Given the description of an element on the screen output the (x, y) to click on. 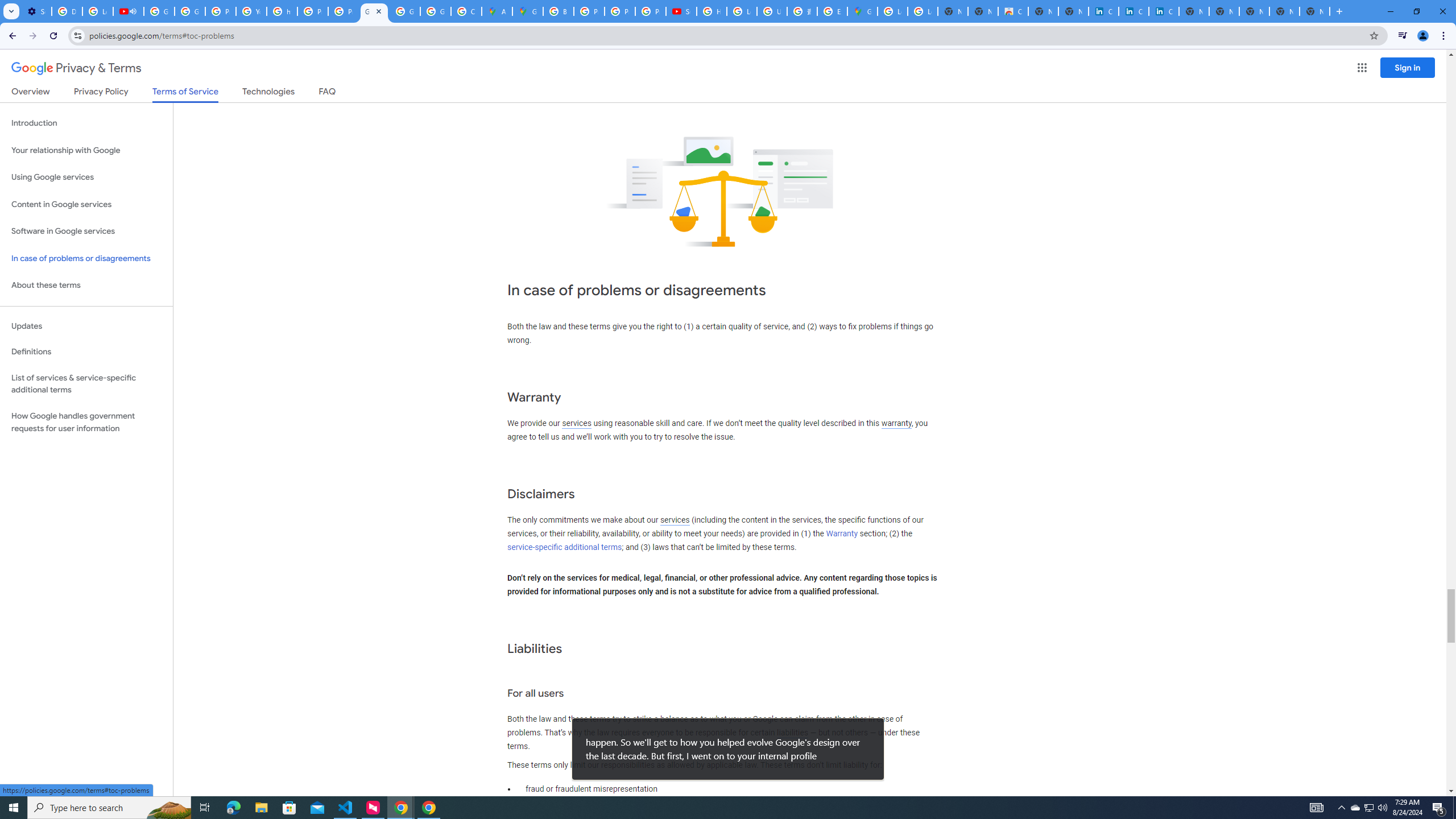
Create your Google Account (465, 11)
Privacy Help Center - Policies Help (619, 11)
Learn how to find your photos - Google Photos Help (97, 11)
